Given the description of an element on the screen output the (x, y) to click on. 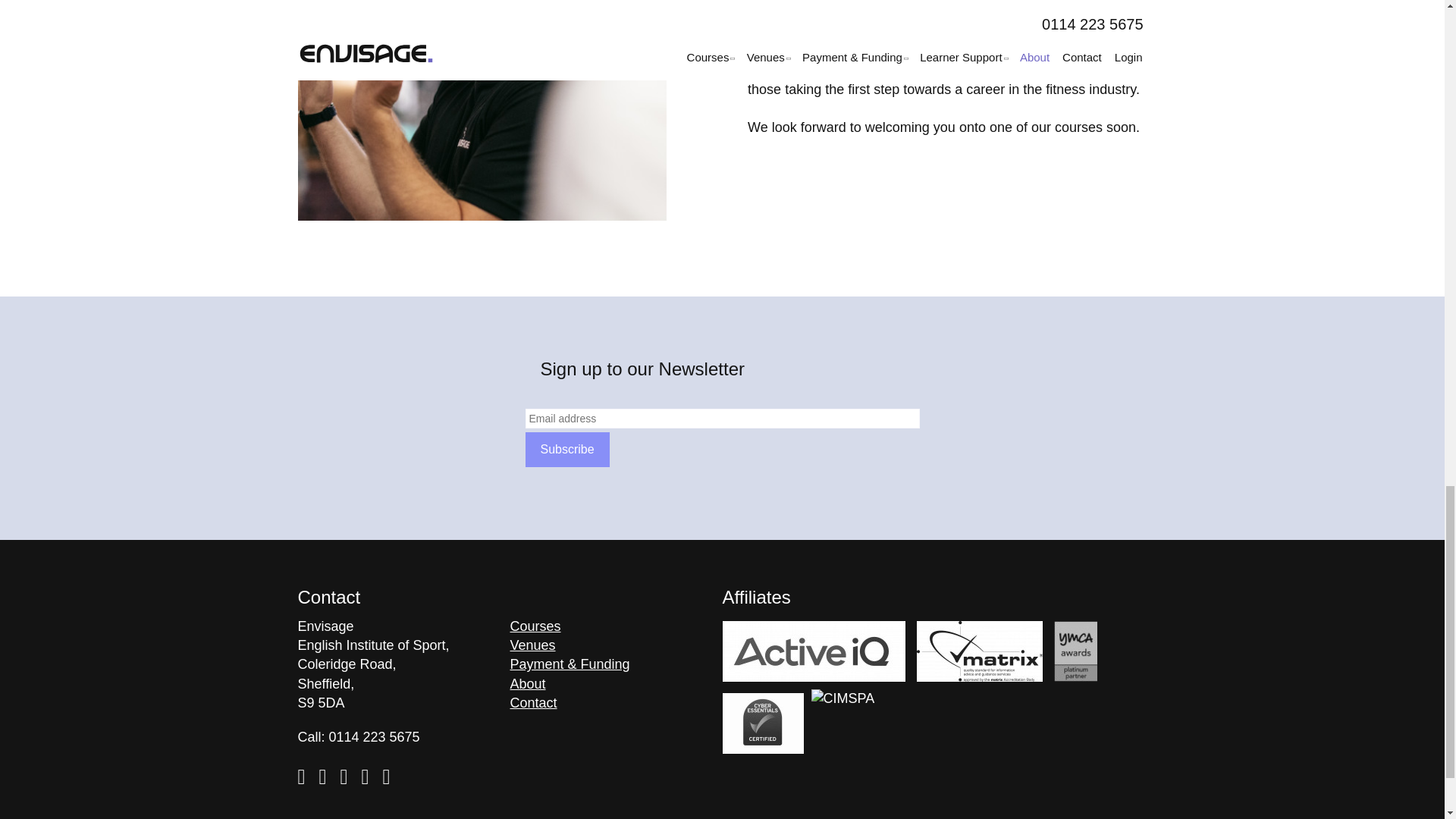
Active IQ (813, 650)
Cyber Essentials (762, 722)
Matrix (979, 650)
Subscribe (566, 449)
CIMSPA (842, 719)
Subscribe (566, 449)
